Given the description of an element on the screen output the (x, y) to click on. 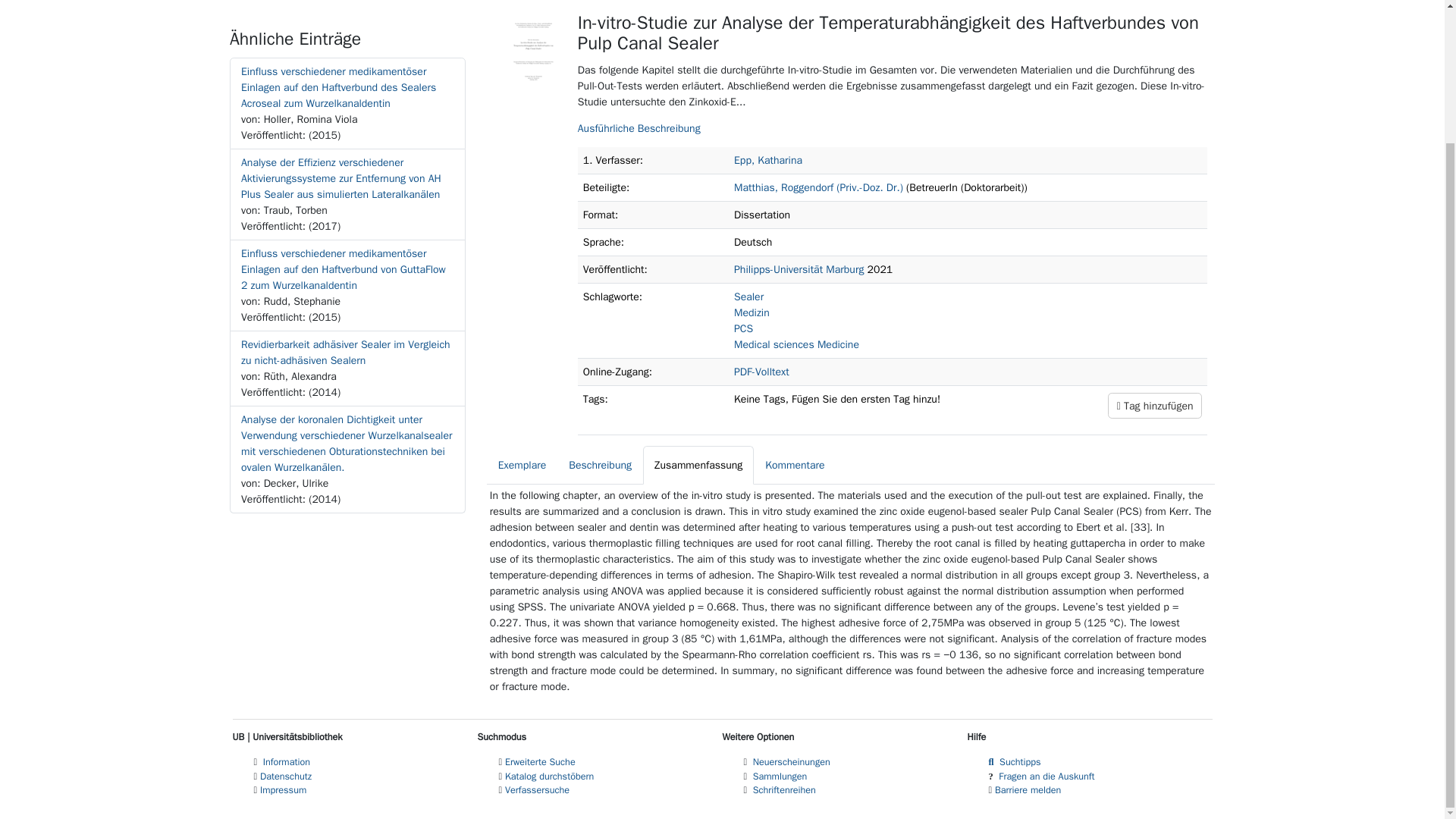
Medizin (751, 312)
PCS (742, 328)
Sealer (747, 296)
Medical sciences Medicine (796, 344)
